Given the description of an element on the screen output the (x, y) to click on. 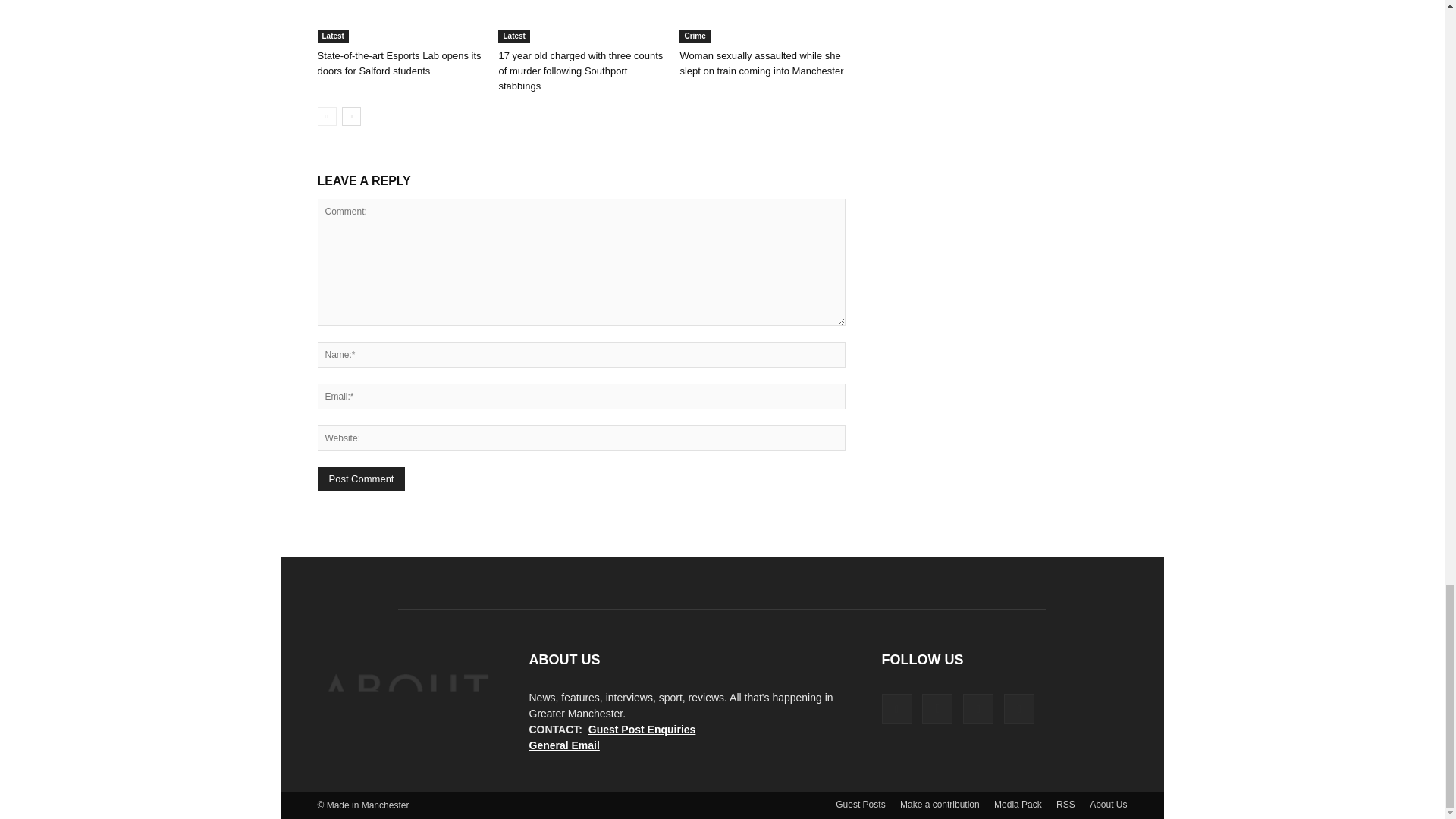
Post Comment (360, 478)
